Given the description of an element on the screen output the (x, y) to click on. 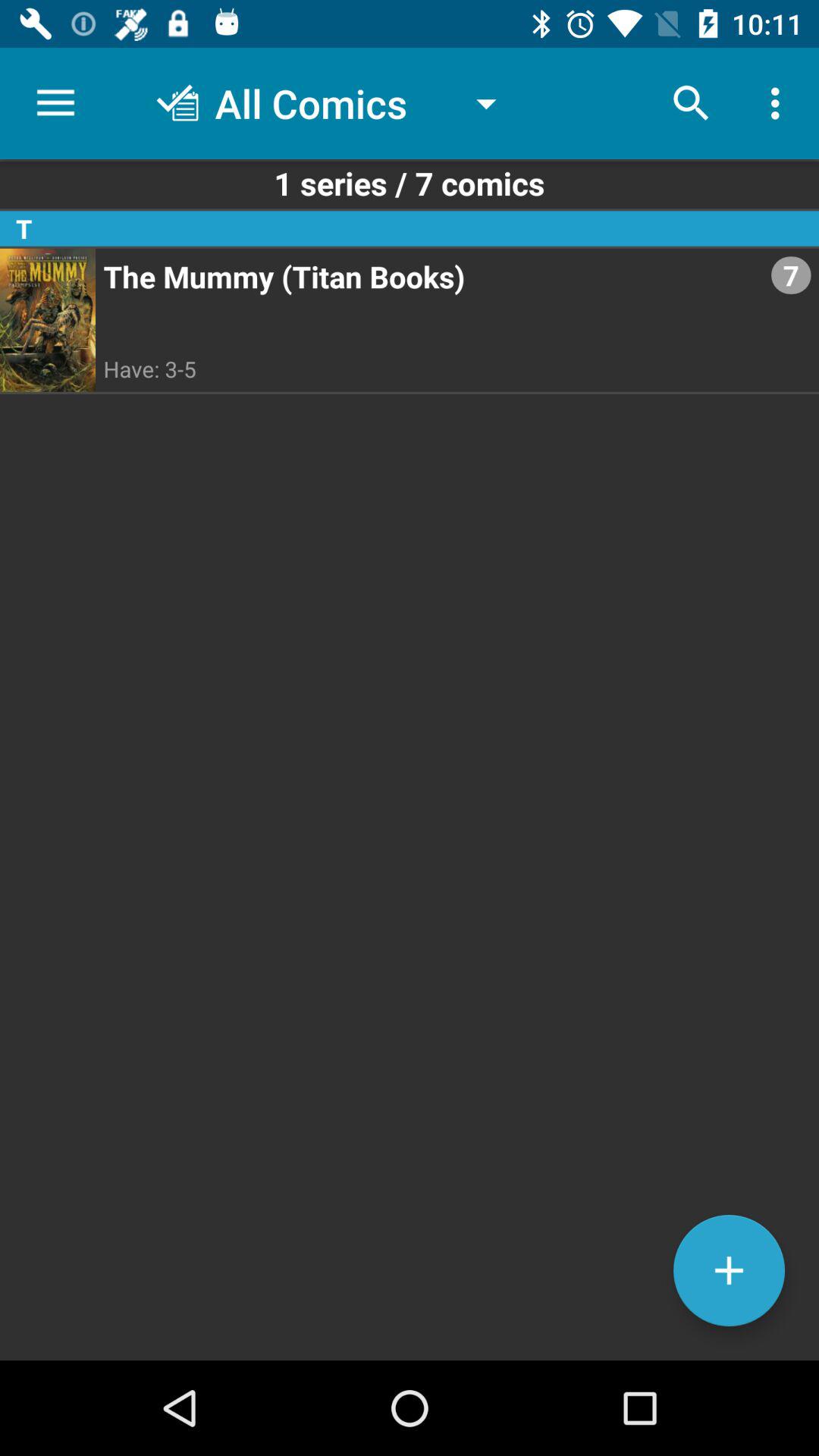
turn on icon below the the mummy titan icon (728, 1270)
